Given the description of an element on the screen output the (x, y) to click on. 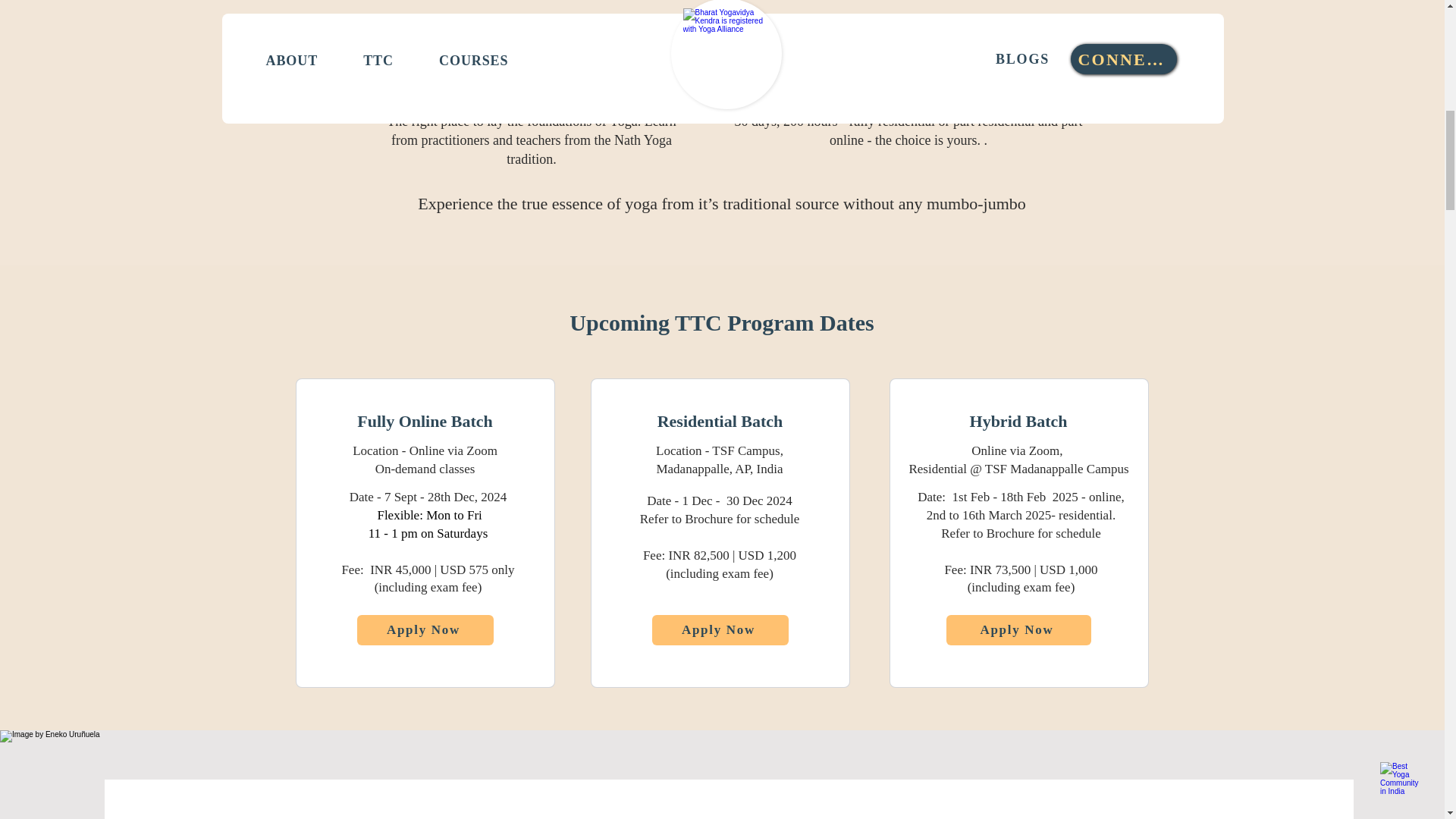
Apply Now (1018, 630)
Apply Now (424, 630)
Apply Now (720, 630)
